Given the description of an element on the screen output the (x, y) to click on. 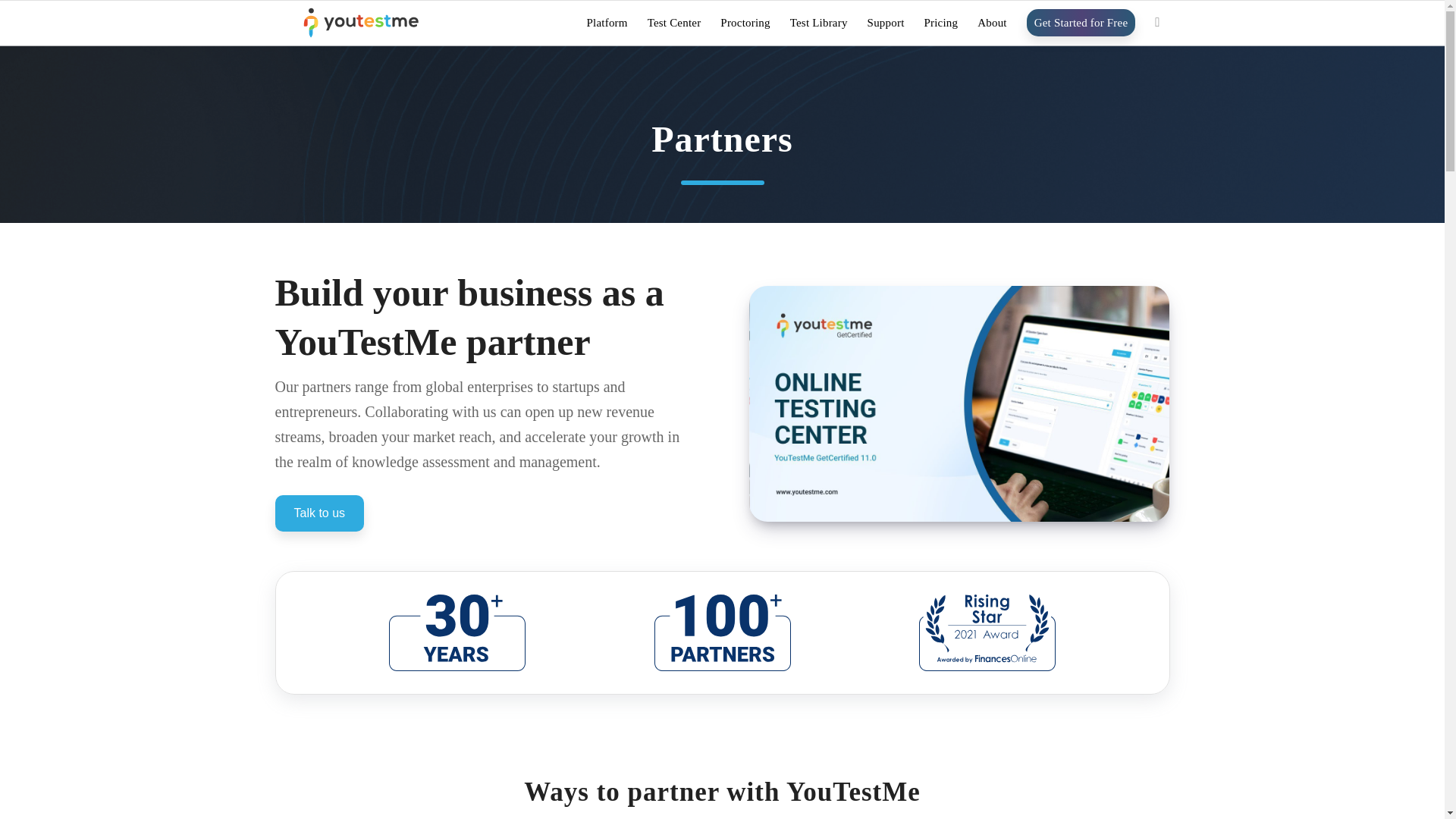
Logo YTM-01 (360, 22)
Test Center (674, 28)
Logo YTM-01 (360, 22)
Proctoring (744, 28)
Platform (606, 28)
